Given the description of an element on the screen output the (x, y) to click on. 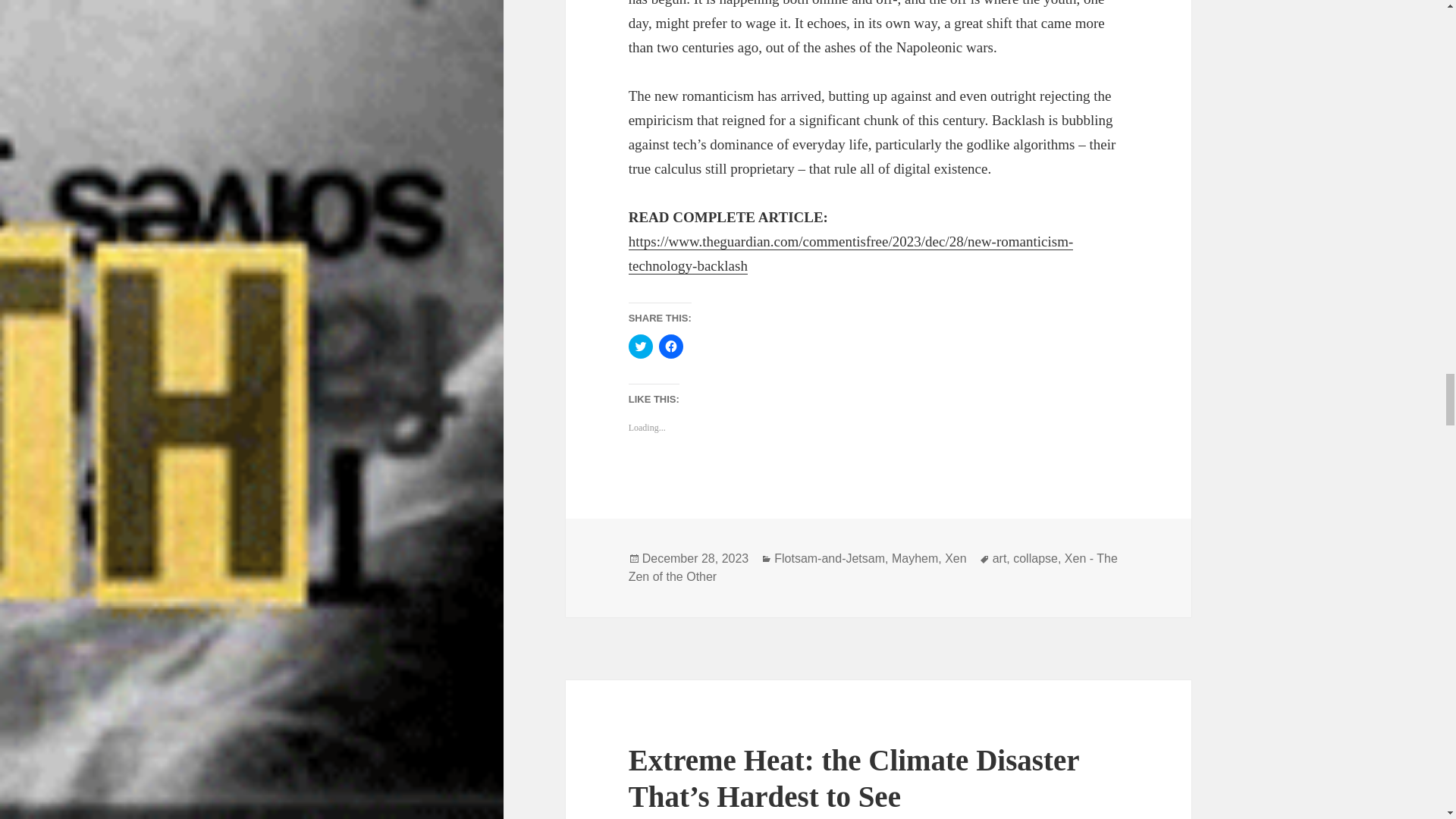
Click to share on Twitter (640, 346)
Click to share on Facebook (670, 346)
